Given the description of an element on the screen output the (x, y) to click on. 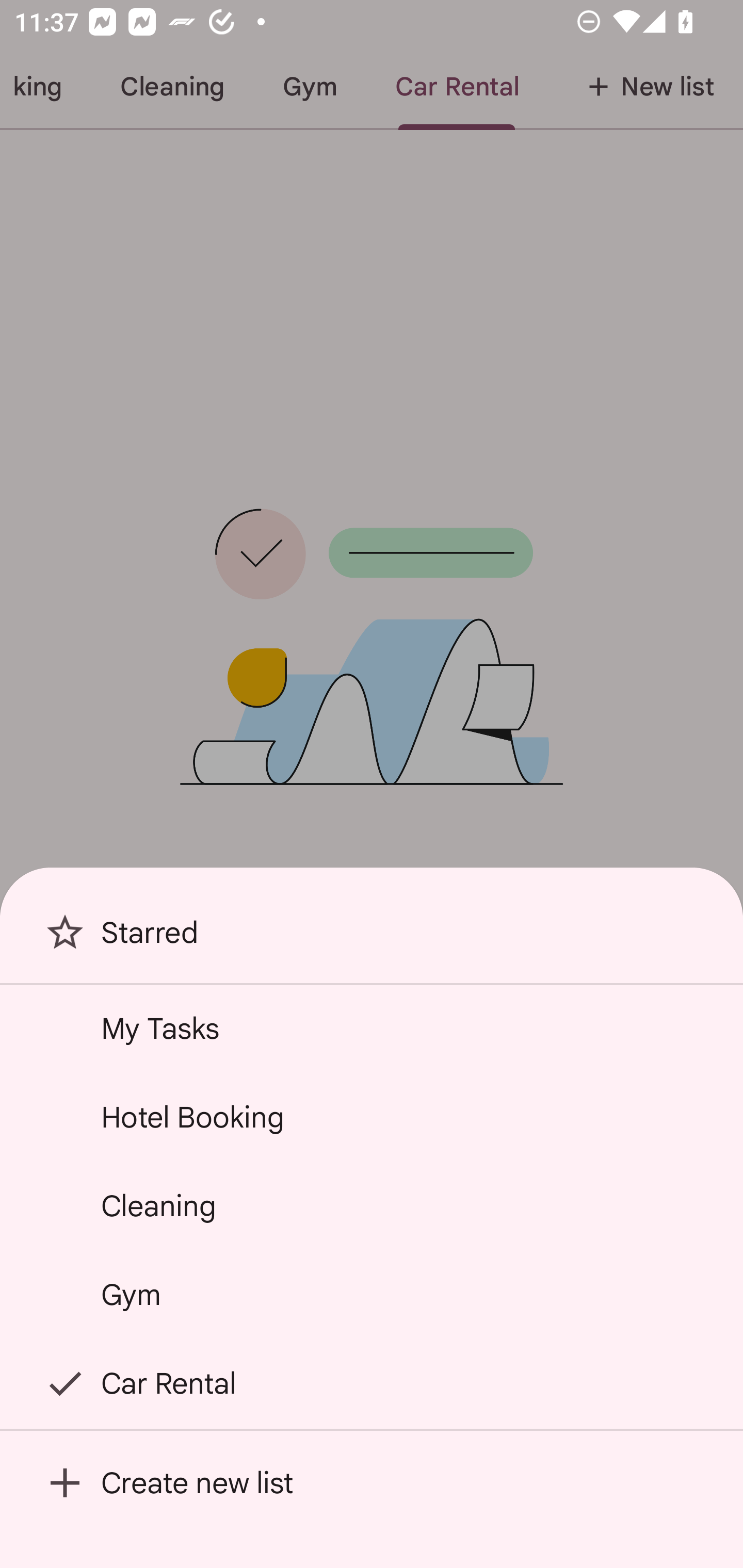
Starred (371, 939)
My Tasks (371, 1028)
Hotel Booking (371, 1117)
Cleaning (371, 1205)
Gym (371, 1294)
Car Rental (371, 1383)
Create new list (371, 1482)
